Given the description of an element on the screen output the (x, y) to click on. 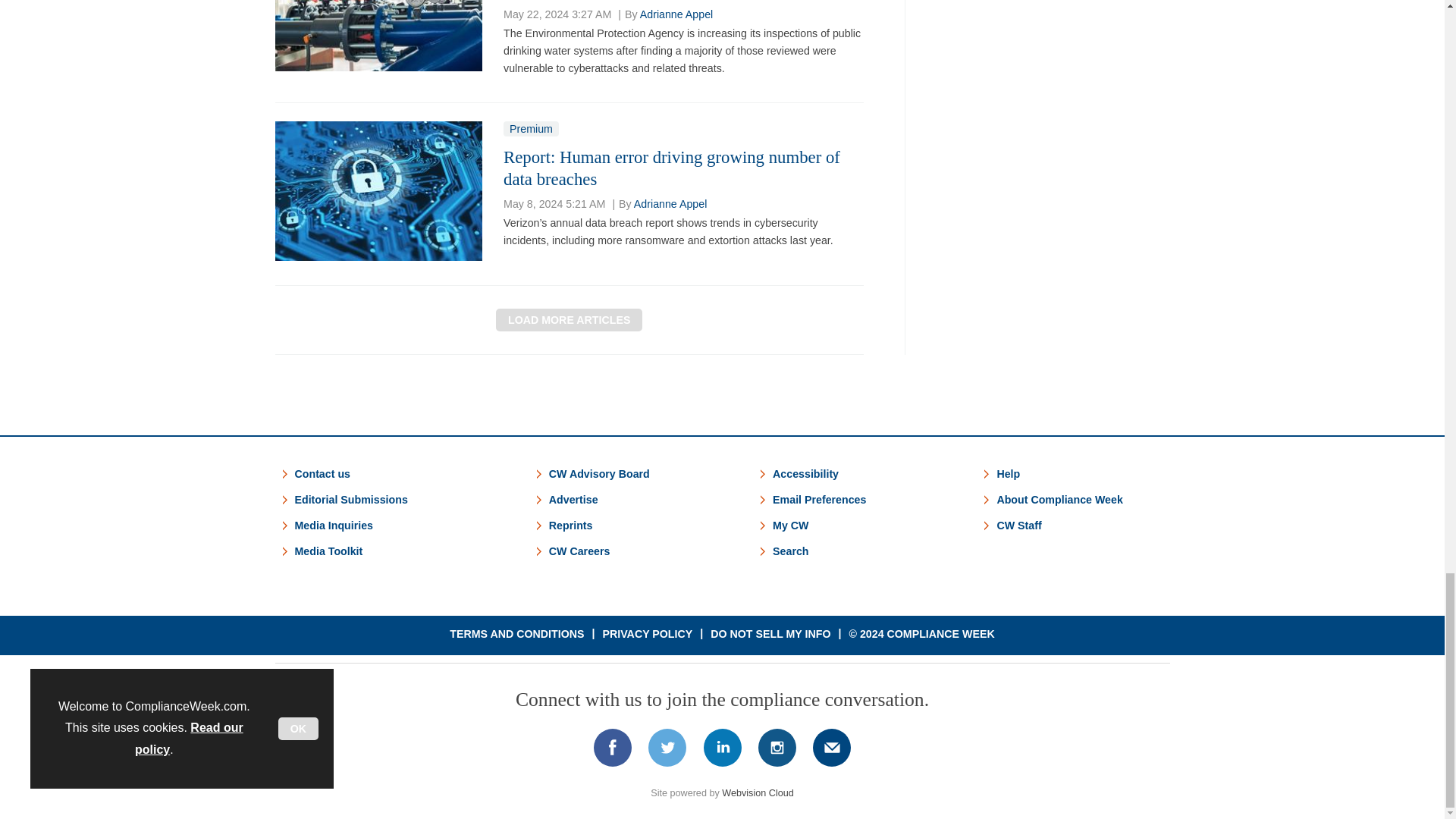
Connect with us on Facebook (611, 747)
Email us (831, 747)
Connect with us on Instagram (776, 747)
Connect with us on Twitter (667, 747)
Connect with us on Linked in (721, 747)
